Given the description of an element on the screen output the (x, y) to click on. 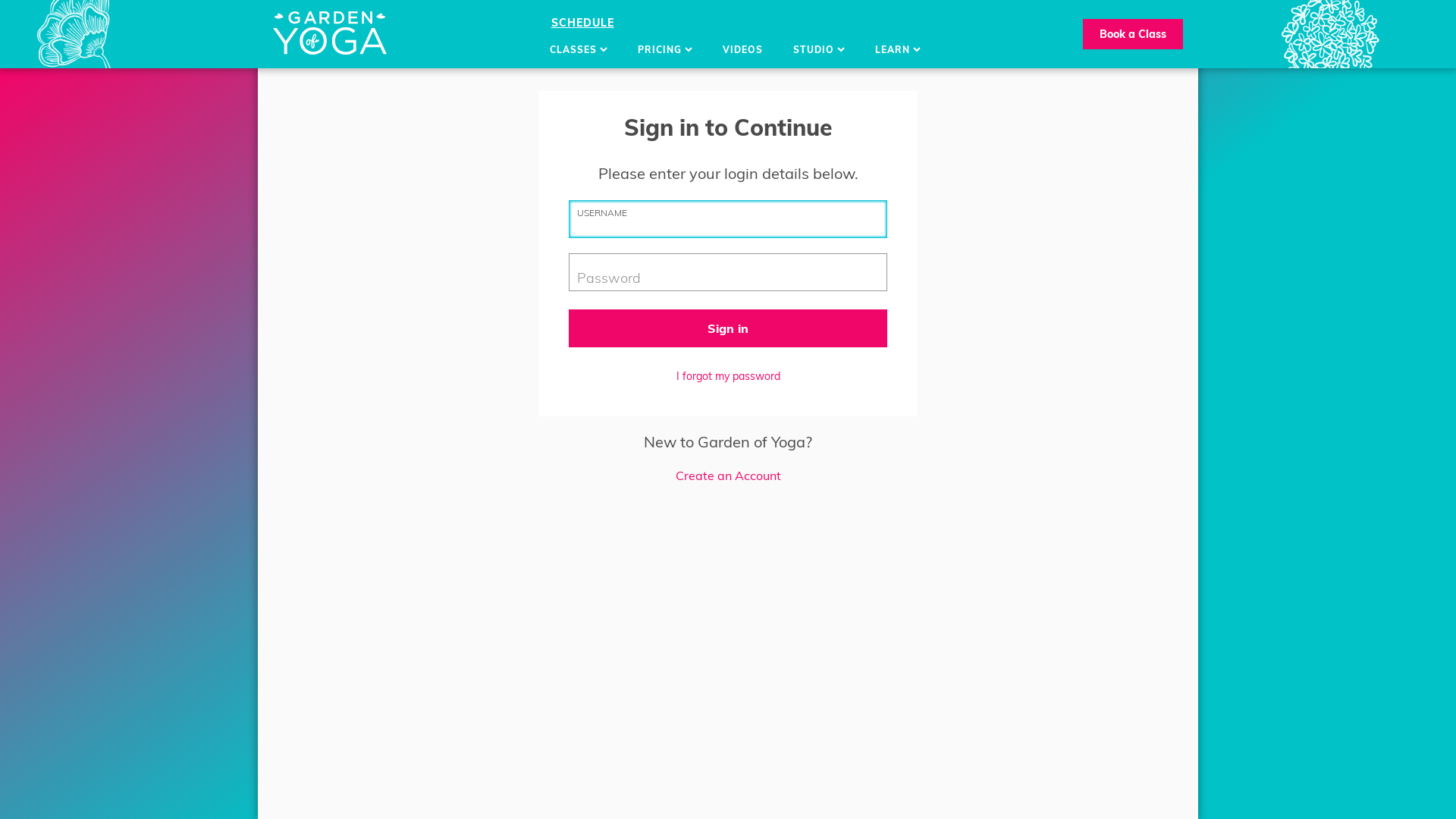
VIDEOS Element type: text (741, 49)
I forgot my password Element type: text (728, 375)
CLASSES Element type: text (577, 49)
Sign in Element type: text (727, 328)
Create an Account Element type: text (727, 475)
LEARN Element type: text (897, 49)
STUDIO Element type: text (818, 49)
SCHEDULE Element type: text (581, 22)
PRICING Element type: text (664, 49)
Book a Class Element type: text (1132, 33)
